Given the description of an element on the screen output the (x, y) to click on. 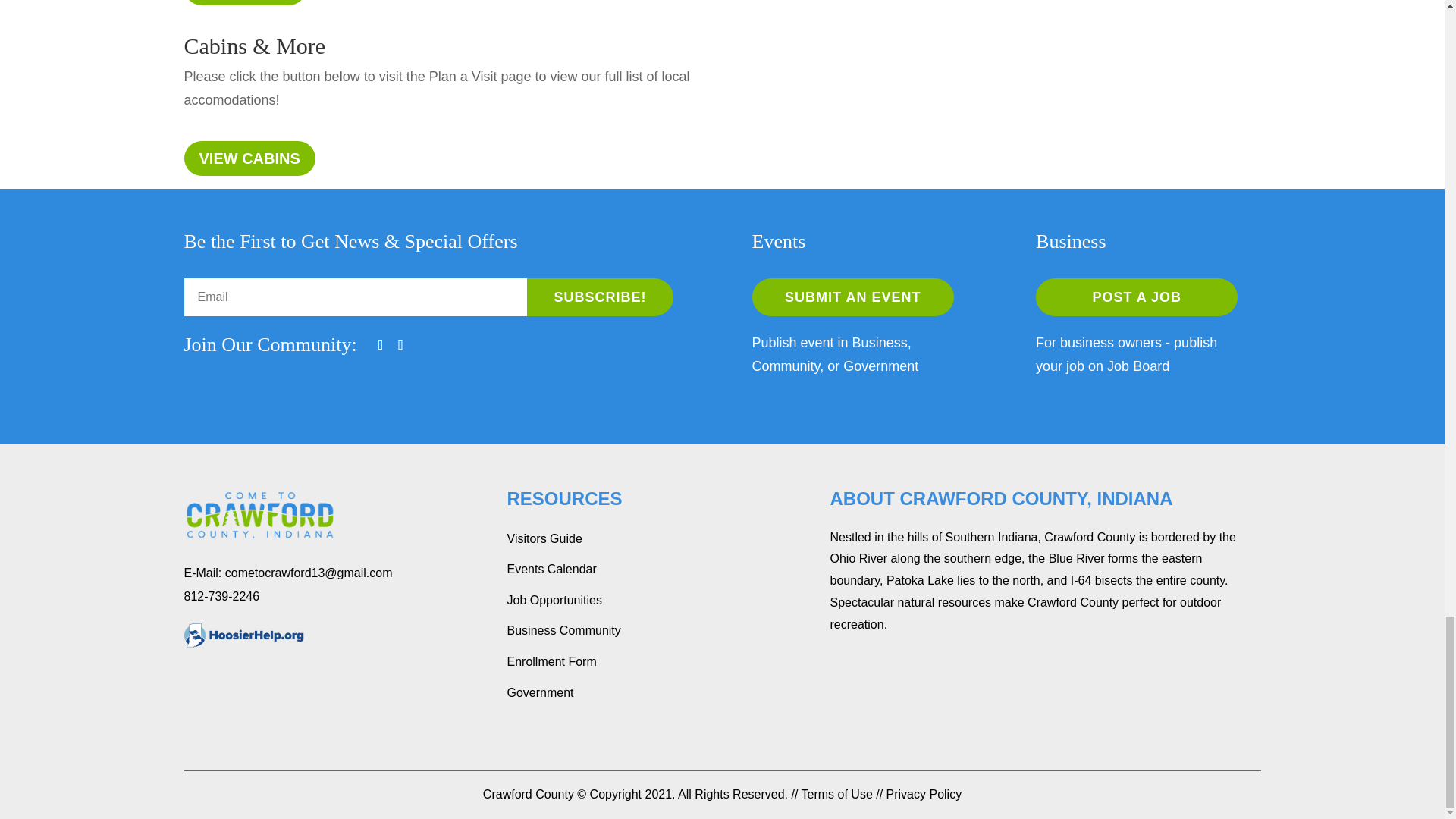
SUBSCRIBE! (600, 297)
POST A JOB (1136, 297)
VIEW CABINS (248, 158)
SUBMIT AN EVENT (852, 297)
BOOK HERE (244, 2)
